Given the description of an element on the screen output the (x, y) to click on. 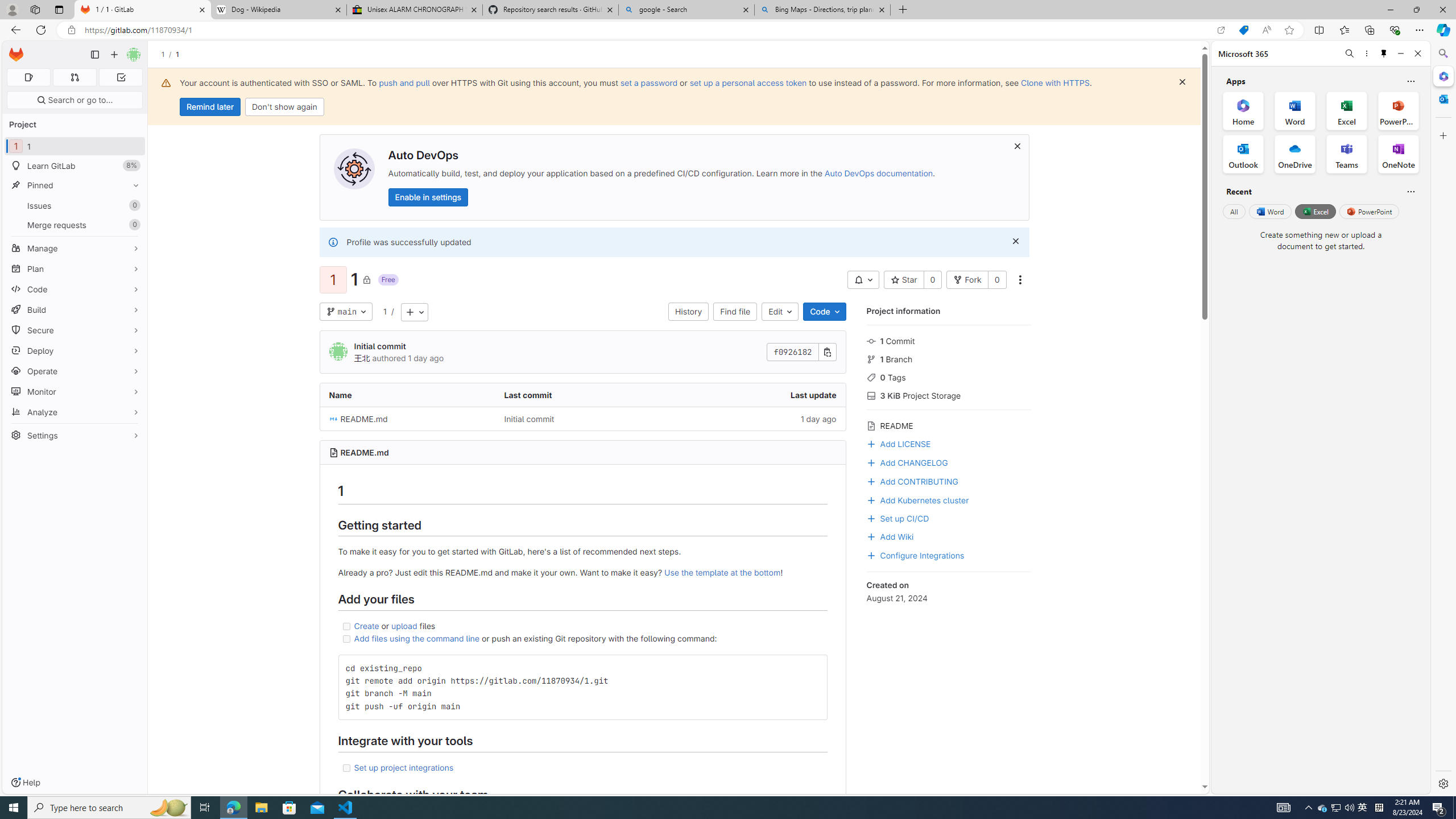
README (948, 424)
3 KiB Project Storage (948, 394)
Set up project integrations (403, 767)
Help (25, 782)
Dog - Wikipedia (277, 9)
Dismiss Auto DevOps box (1017, 146)
